Given the description of an element on the screen output the (x, y) to click on. 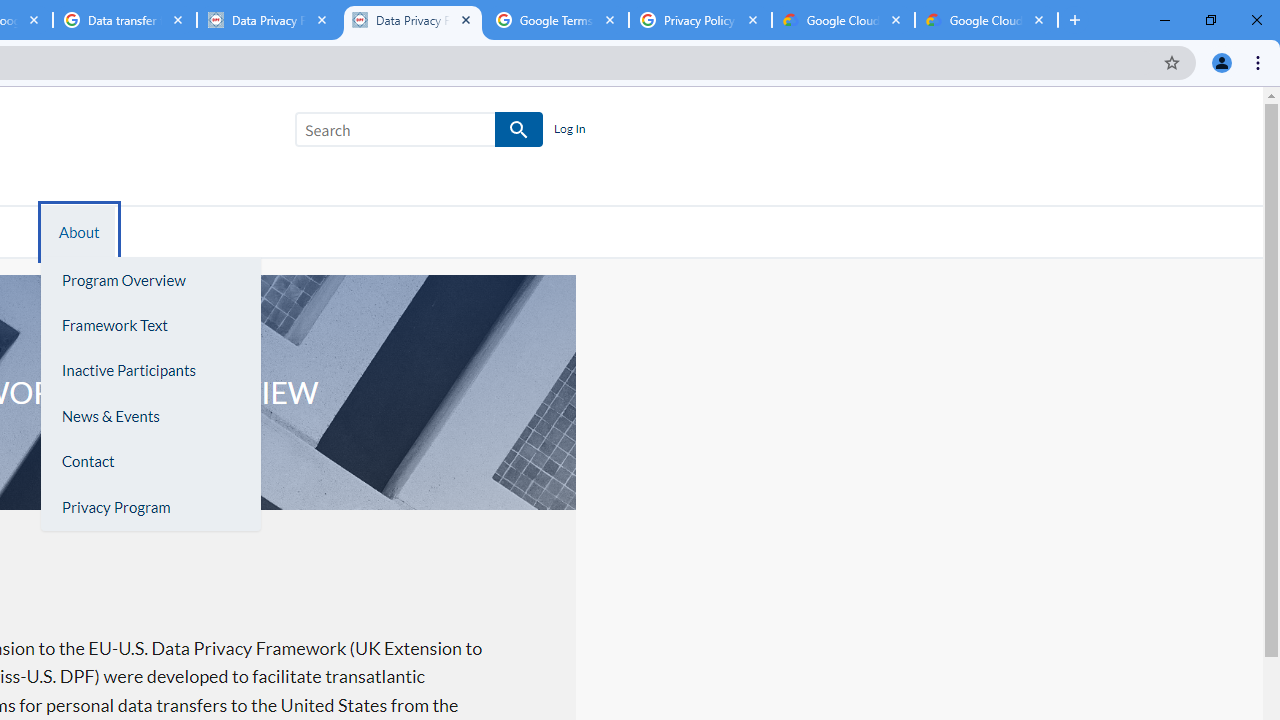
Google Cloud Privacy Notice (986, 20)
AutomationID: navitem2 (76, 231)
Search SEARCH (419, 133)
News & Events (149, 416)
Program Overview (149, 280)
About (79, 231)
SEARCH (519, 130)
